Given the description of an element on the screen output the (x, y) to click on. 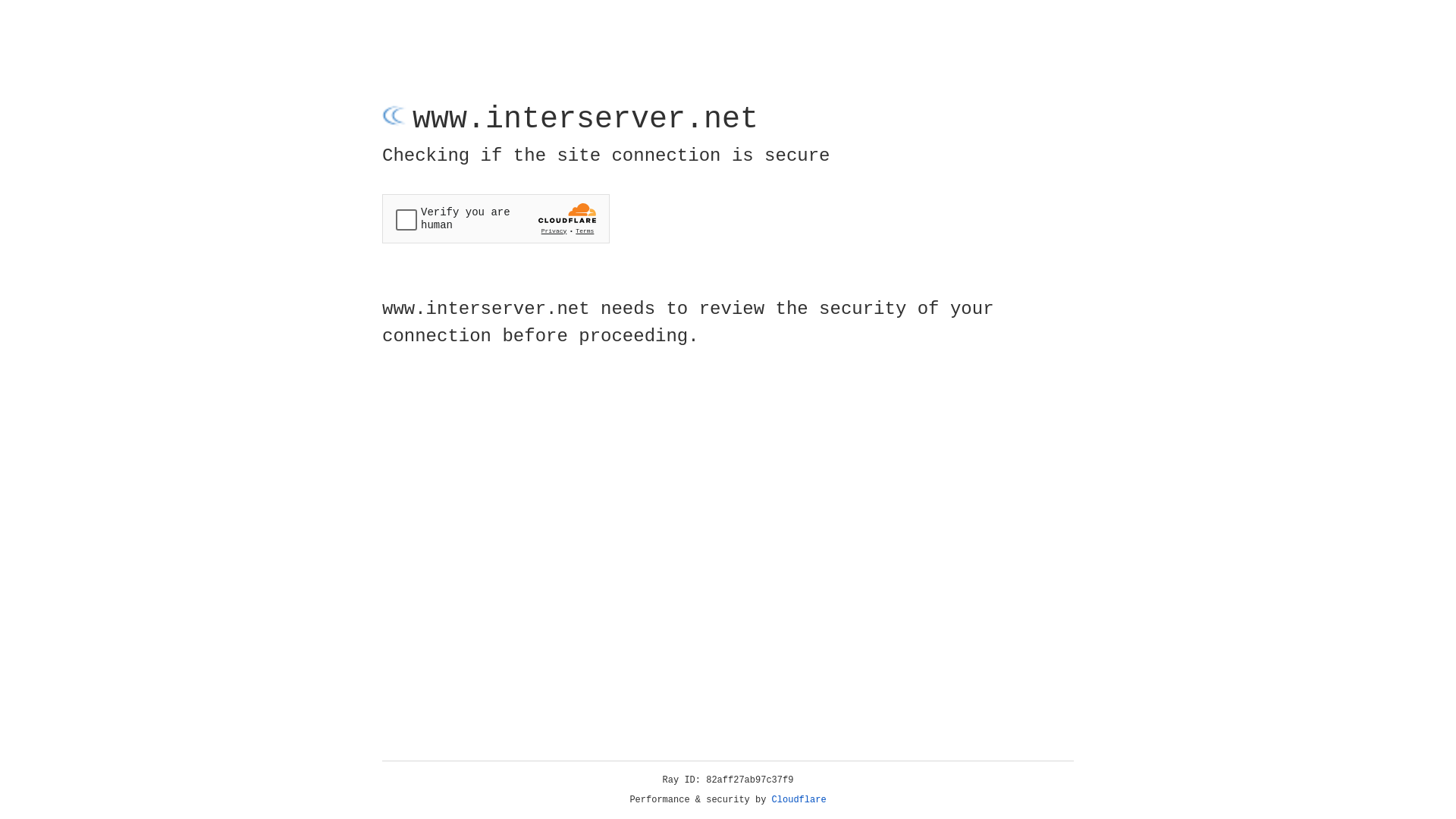
Cloudflare Element type: text (798, 799)
Widget containing a Cloudflare security challenge Element type: hover (495, 218)
